Given the description of an element on the screen output the (x, y) to click on. 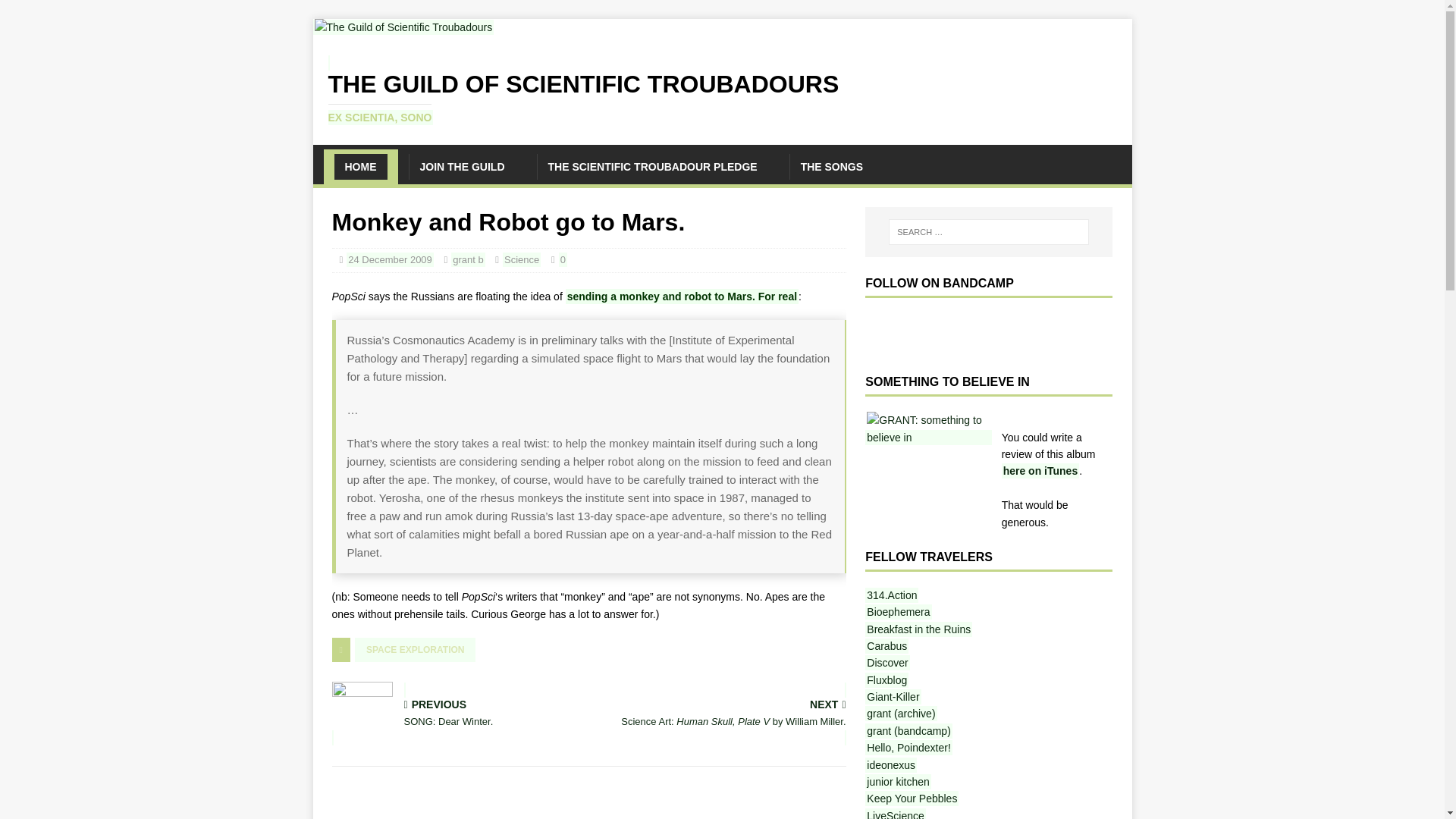
The Guild travels elsewhere. (908, 730)
Discover (721, 89)
THE SCIENTIFIC TROUBADOUR PLEDGE (886, 662)
Search (652, 166)
ideonexus (28, 7)
grant b (890, 765)
Science (467, 259)
JOIN THE GUILD (521, 259)
Carabus (461, 166)
